Given the description of an element on the screen output the (x, y) to click on. 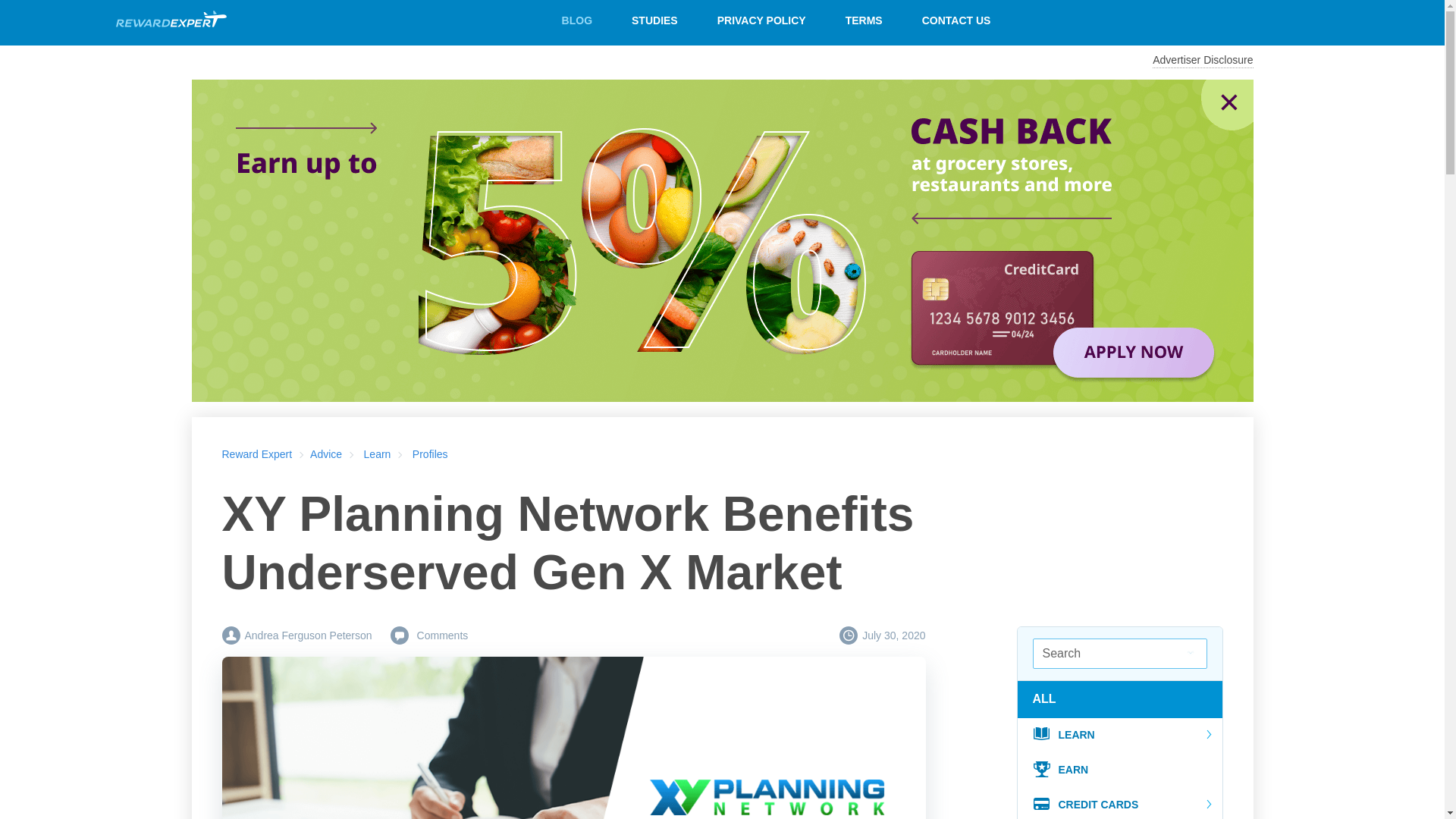
LEARN (1120, 735)
EARN (1120, 769)
STUDIES (654, 20)
BLOG (576, 20)
TERMS (863, 20)
Advertiser Disclosure (1202, 60)
CONTACT US (956, 20)
ALL (1048, 698)
Profiles (430, 453)
CREDIT CARDS (1120, 803)
Learn (377, 453)
Advice (326, 453)
Reward Expert (256, 453)
PRIVACY POLICY (761, 20)
